Given the description of an element on the screen output the (x, y) to click on. 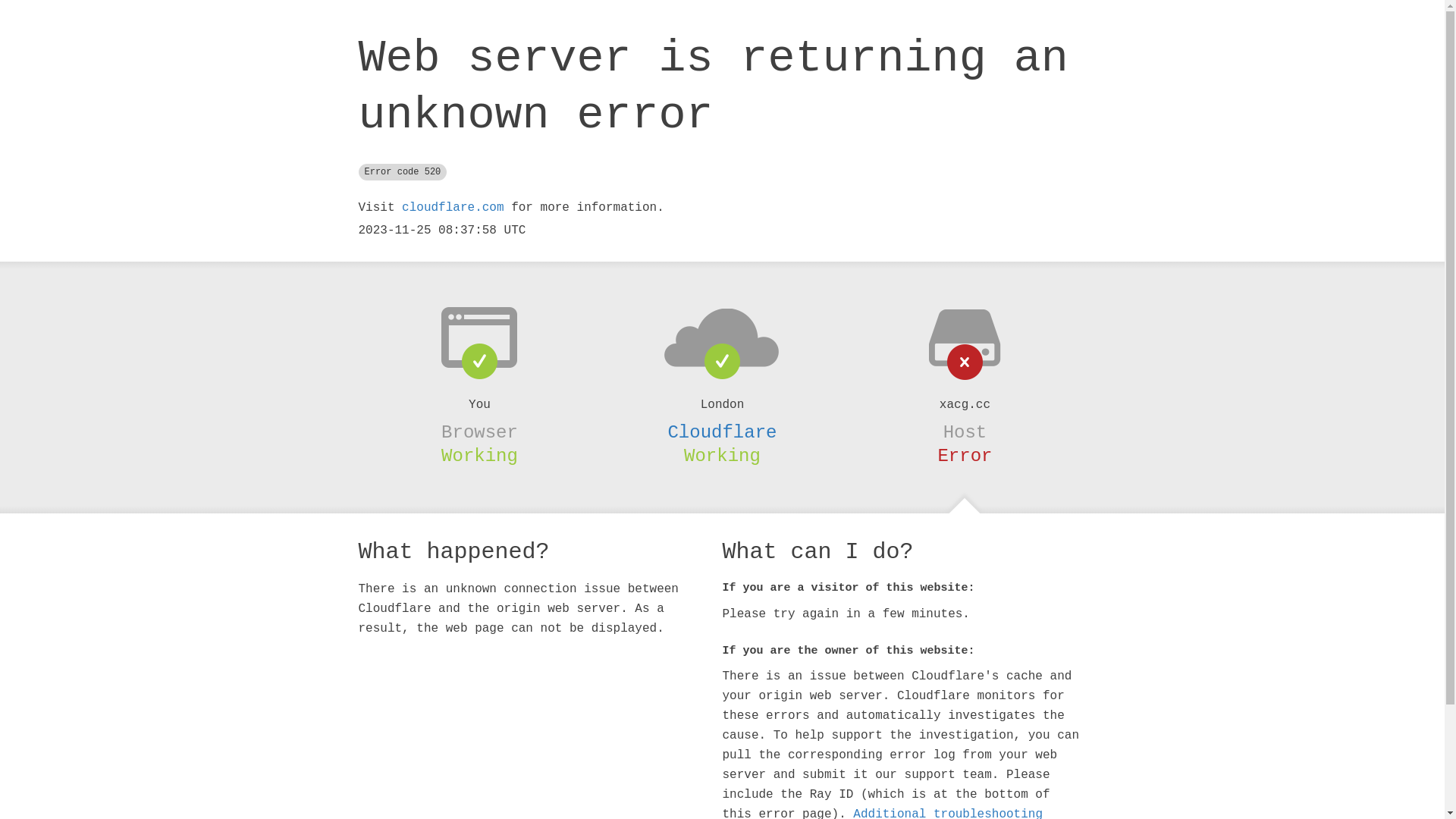
cloudflare.com Element type: text (452, 207)
Cloudflare Element type: text (721, 432)
